Given the description of an element on the screen output the (x, y) to click on. 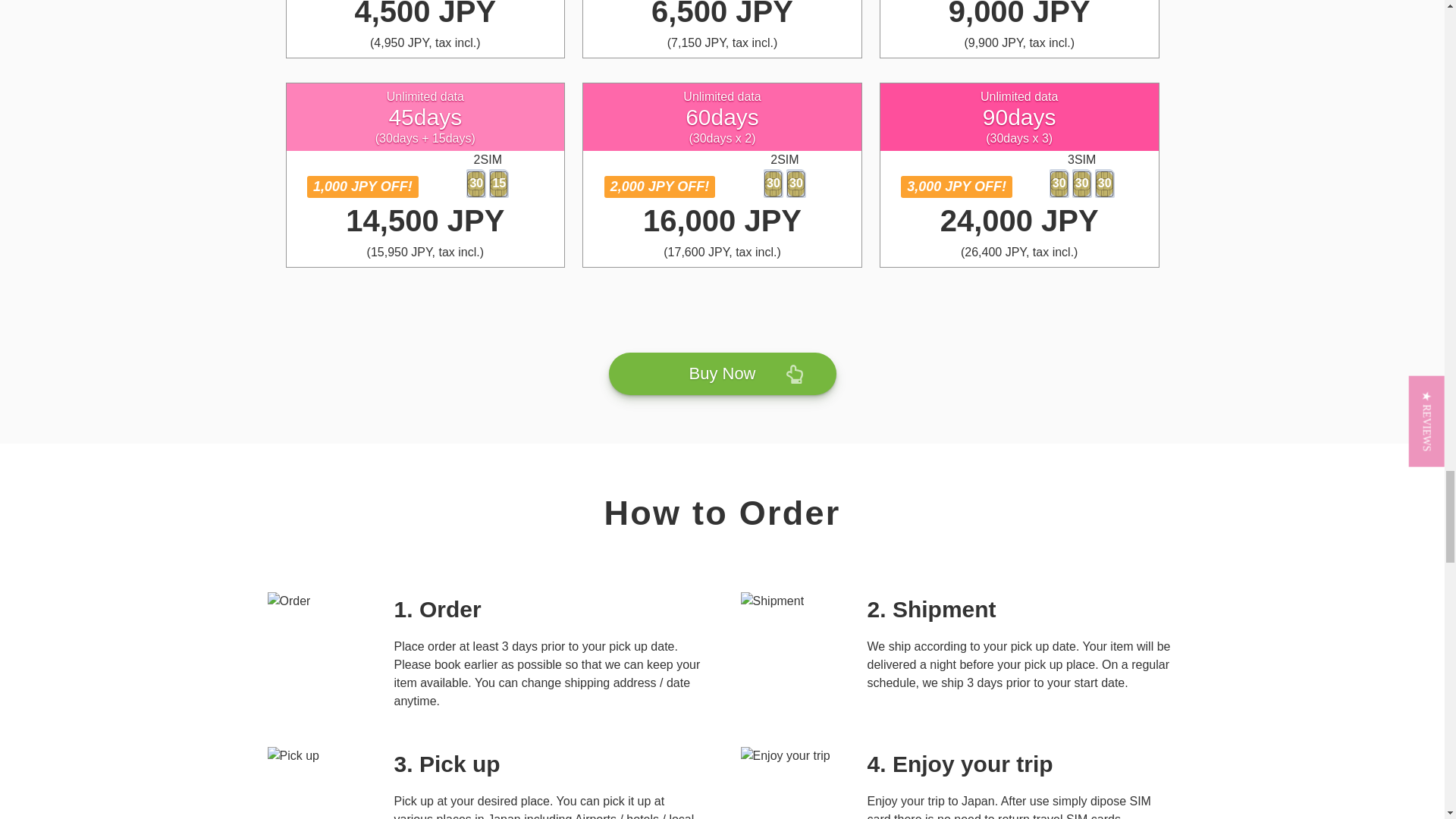
Buy Now (721, 373)
